Given the description of an element on the screen output the (x, y) to click on. 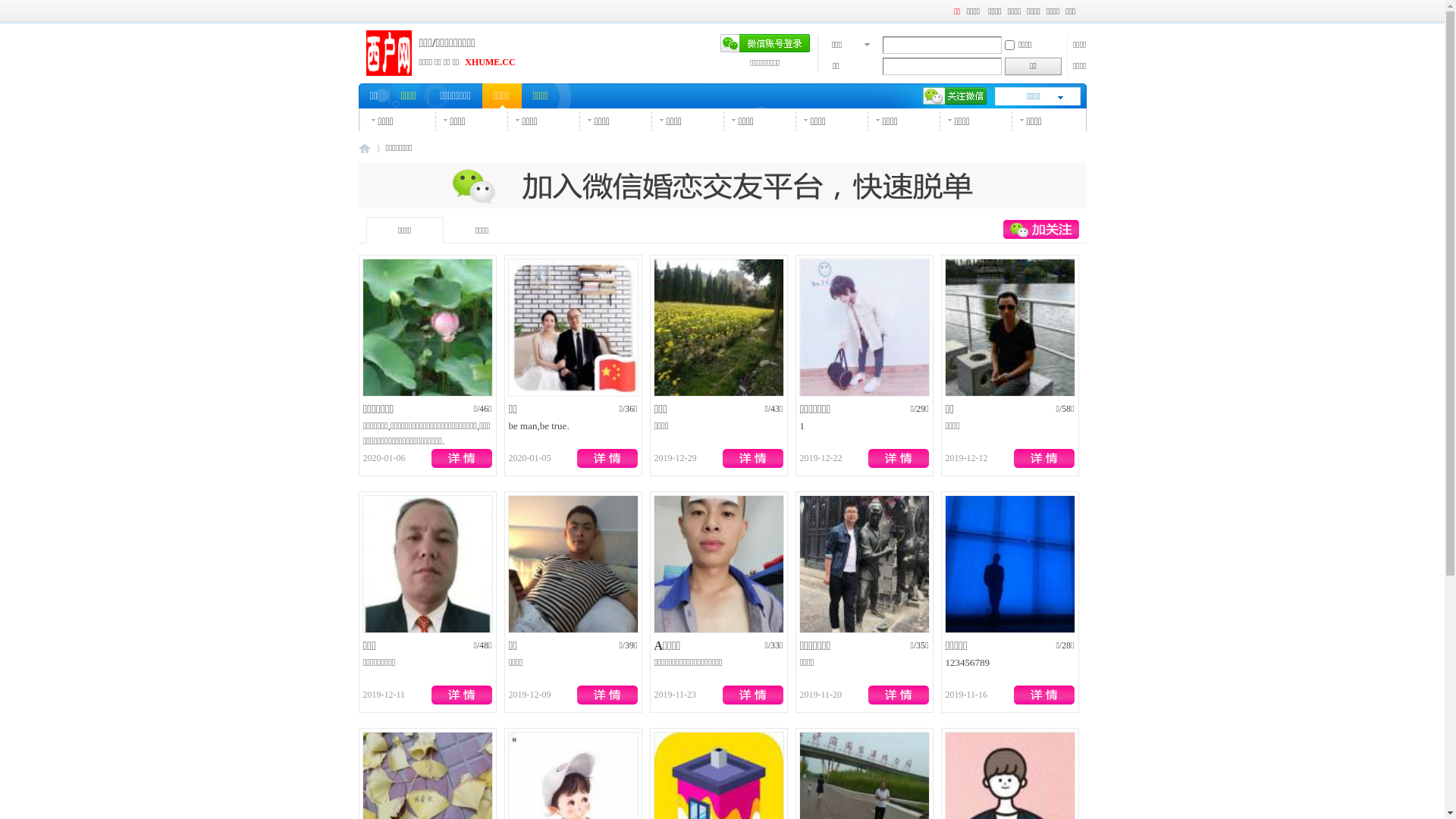
XHUME.CC Element type: text (489, 61)
